Given the description of an element on the screen output the (x, y) to click on. 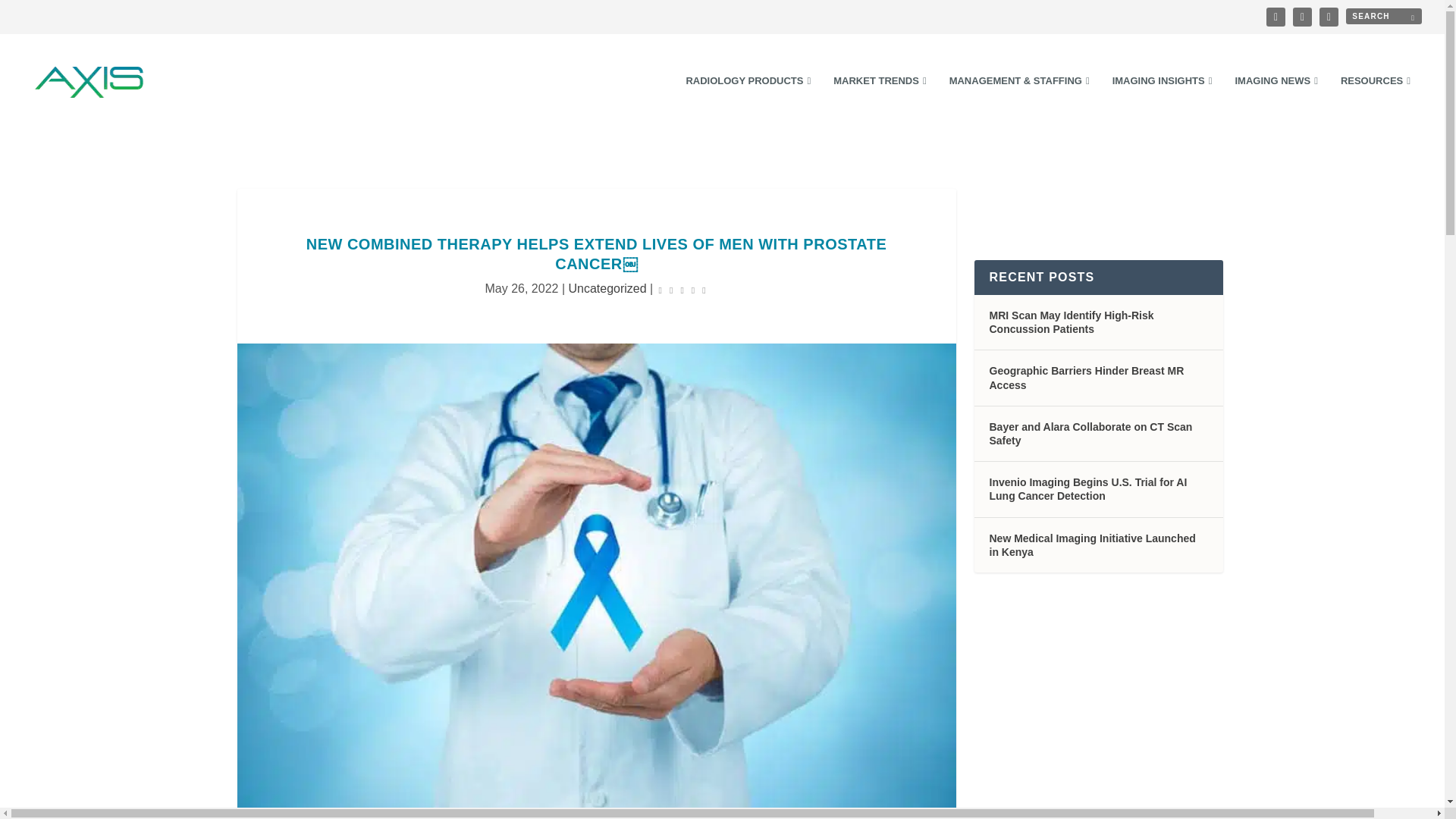
RADIOLOGY PRODUCTS (747, 101)
Uncategorized (606, 287)
Search for: (1383, 16)
RESOURCES (1375, 101)
IMAGING NEWS (1275, 101)
MARKET TRENDS (879, 101)
IMAGING INSIGHTS (1162, 101)
Rating: 0.00 (681, 289)
